Given the description of an element on the screen output the (x, y) to click on. 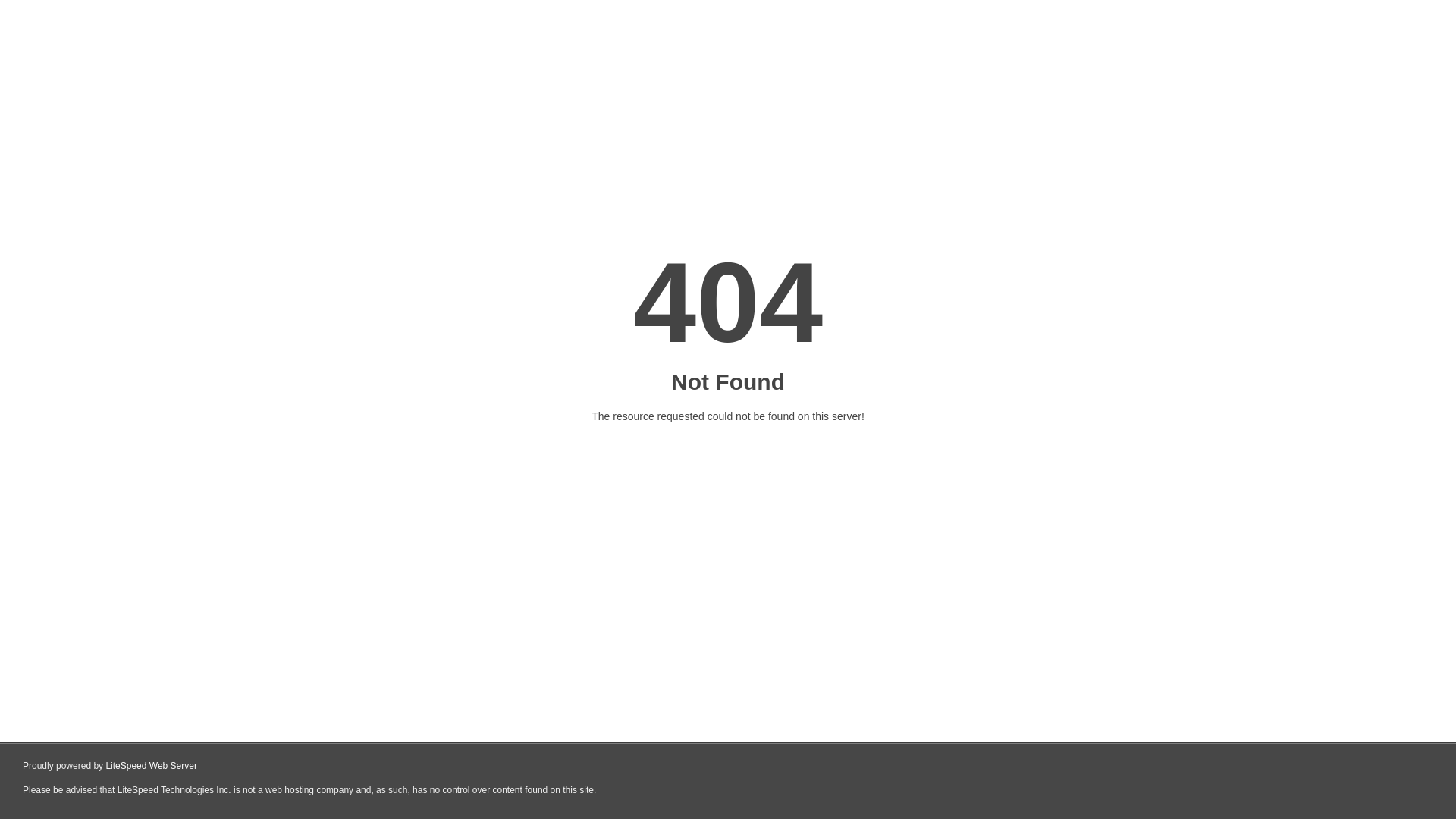
LiteSpeed Web Server Element type: text (151, 765)
